Given the description of an element on the screen output the (x, y) to click on. 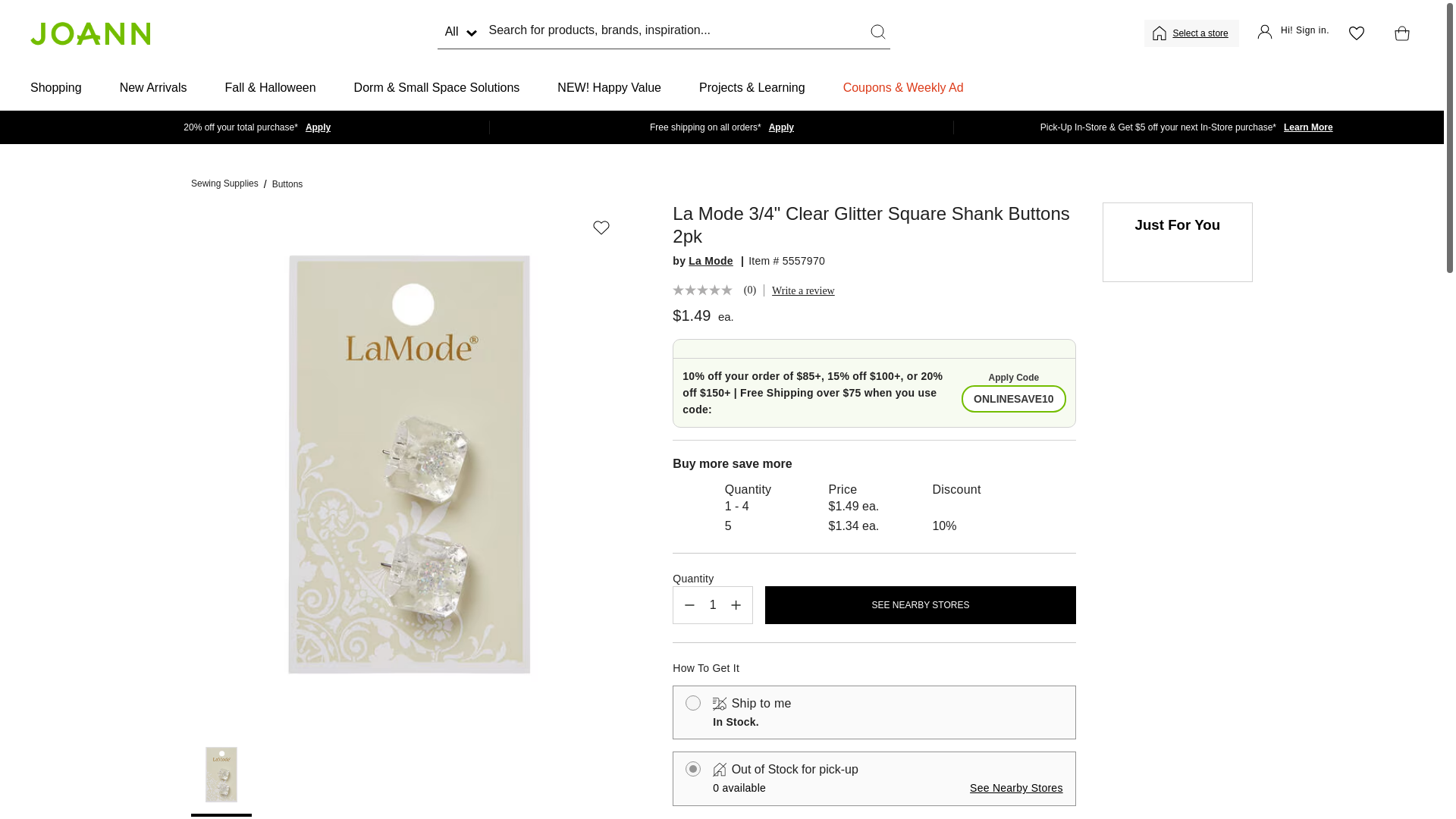
1 (712, 605)
Hi! Sign in. (1293, 33)
View Cart (1398, 33)
Hi! Sign in. (1293, 33)
Buttons (287, 184)
Sewing Supplies (224, 183)
JO-ANN STORES, LLC Home (89, 33)
Shopping (55, 87)
Select a store (1201, 32)
Favorites (1356, 33)
